Given the description of an element on the screen output the (x, y) to click on. 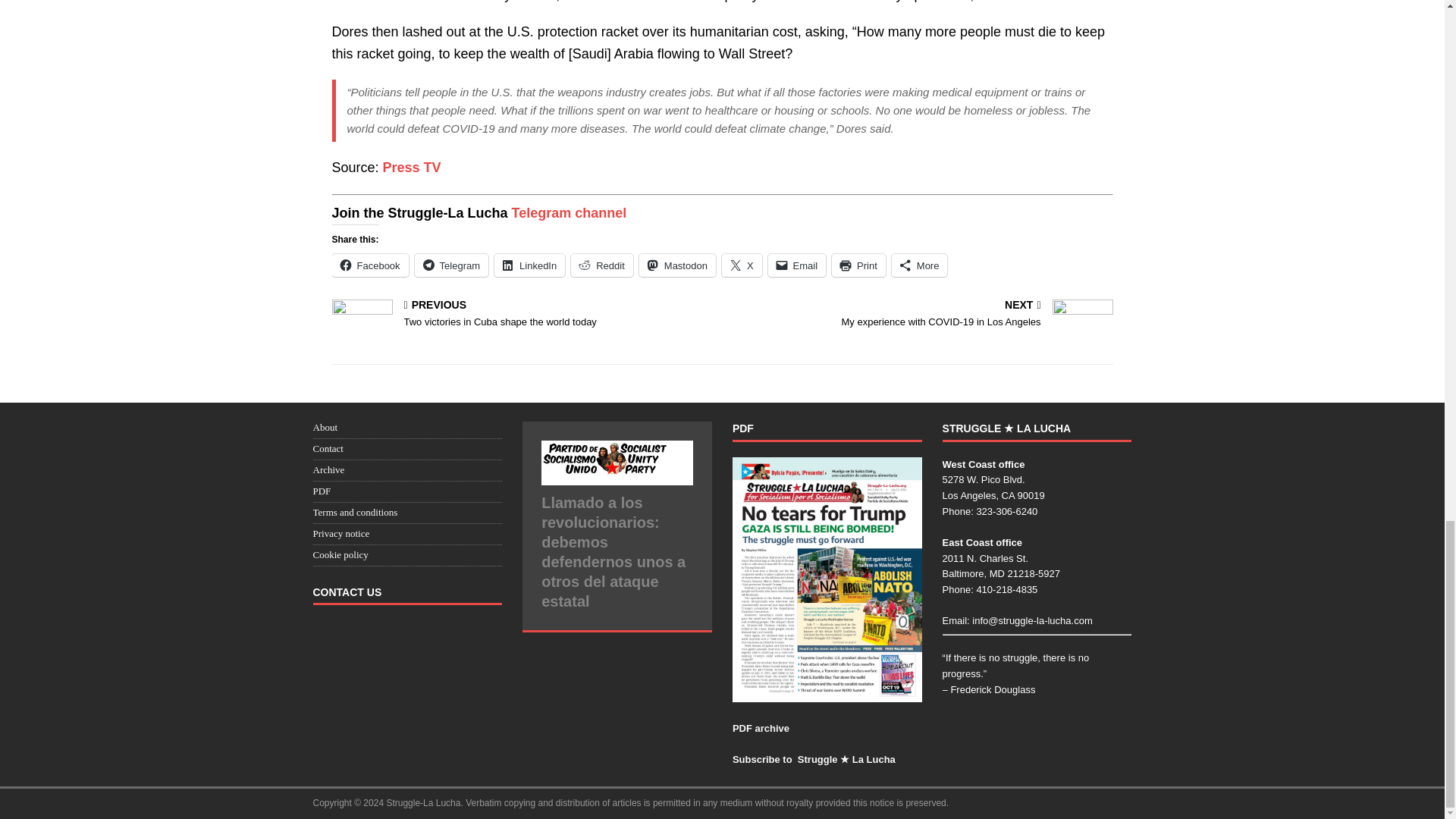
Telegram (450, 264)
Facebook (370, 264)
Click to share on Mastodon (677, 264)
Press TV (411, 167)
LinkedIn (529, 264)
Reddit (601, 264)
Click to share on Facebook (922, 314)
Click to share on X (370, 264)
Click to email a link to a friend (741, 264)
Print (797, 264)
Mastodon (858, 264)
Email (677, 264)
Click to share on Telegram (797, 264)
Contact (450, 264)
